Given the description of an element on the screen output the (x, y) to click on. 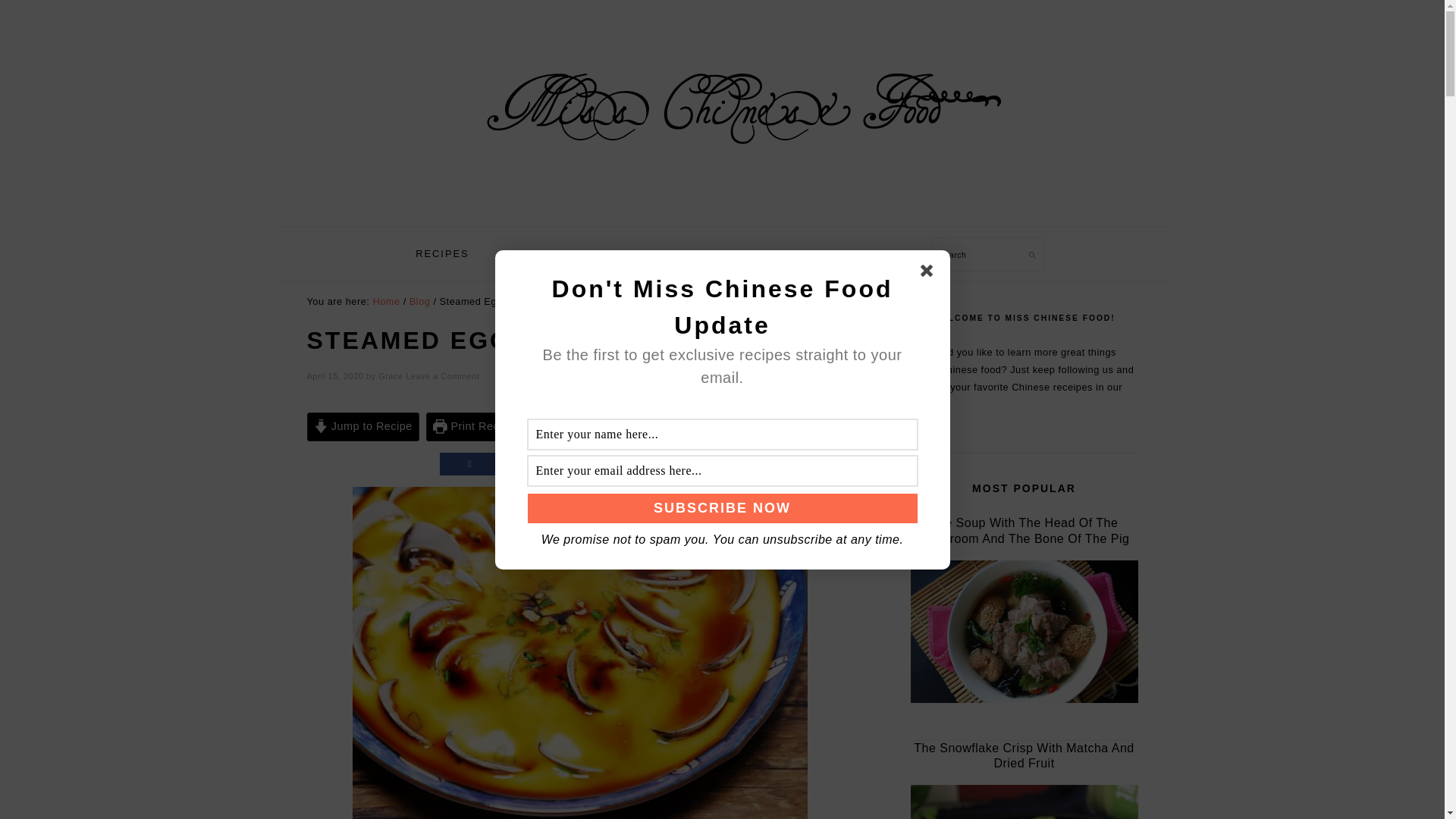
Grace (390, 375)
BAKING (527, 253)
Home (385, 301)
Miss Chinese Food (722, 193)
KITCHEN (613, 253)
Jump to Recipe (362, 426)
The Snowflake Crisp With Matcha And Dried Fruit (1023, 801)
Leave a Comment (442, 375)
Blog (419, 301)
TUTORIALS (779, 253)
Close optin form (929, 272)
RECIPES (441, 253)
Print Recipe (473, 426)
